Given the description of an element on the screen output the (x, y) to click on. 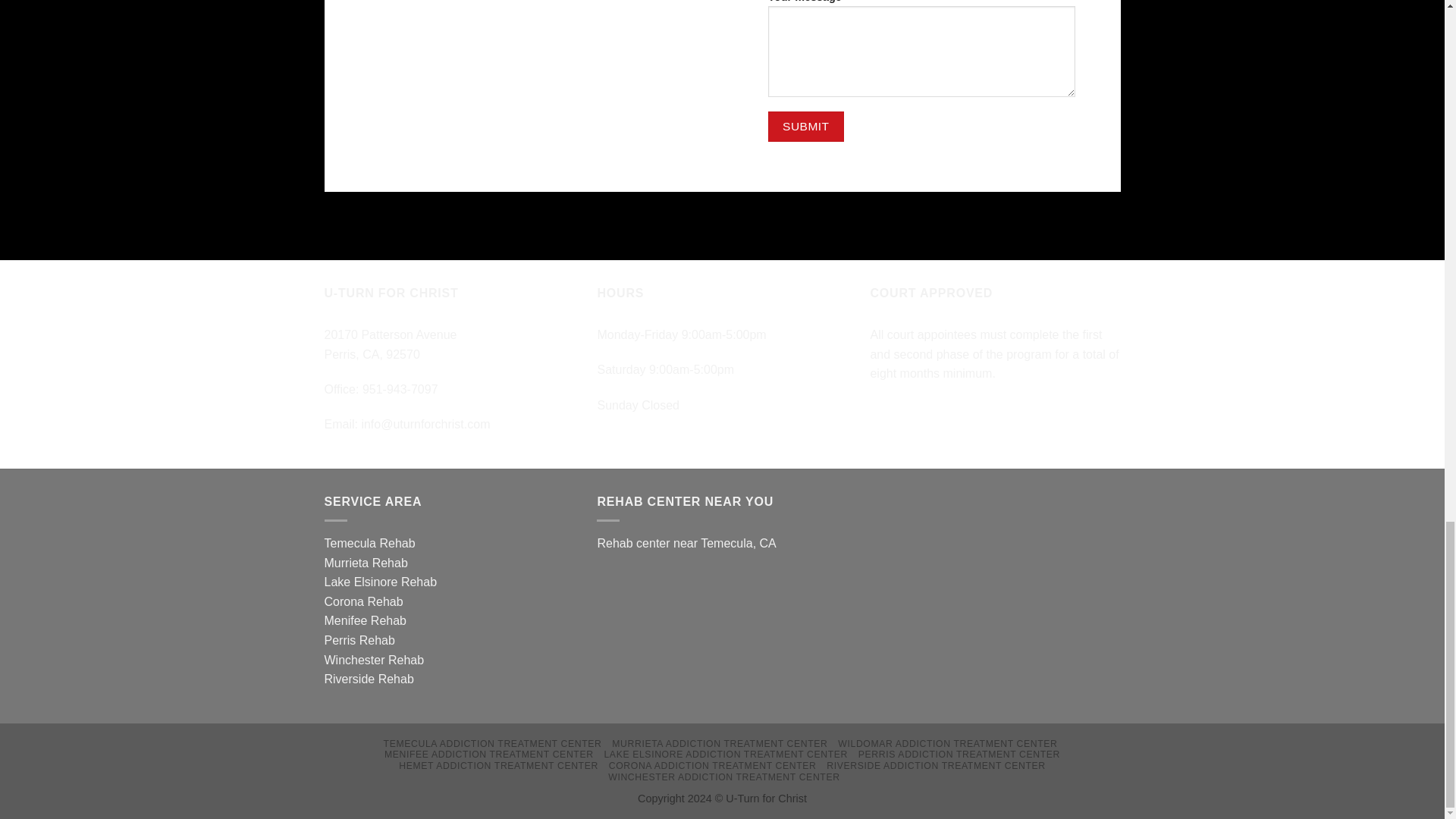
Menifee Rehab (365, 620)
Submit (805, 125)
Riverside Rehab (368, 678)
Perris Rehab (359, 640)
Murrieta Rehab (365, 562)
Winchester Rehab (374, 659)
Submit (805, 125)
Corona Rehab (363, 601)
Temecula Rehab (369, 543)
Lake Elsinore Rehab (381, 581)
